Given the description of an element on the screen output the (x, y) to click on. 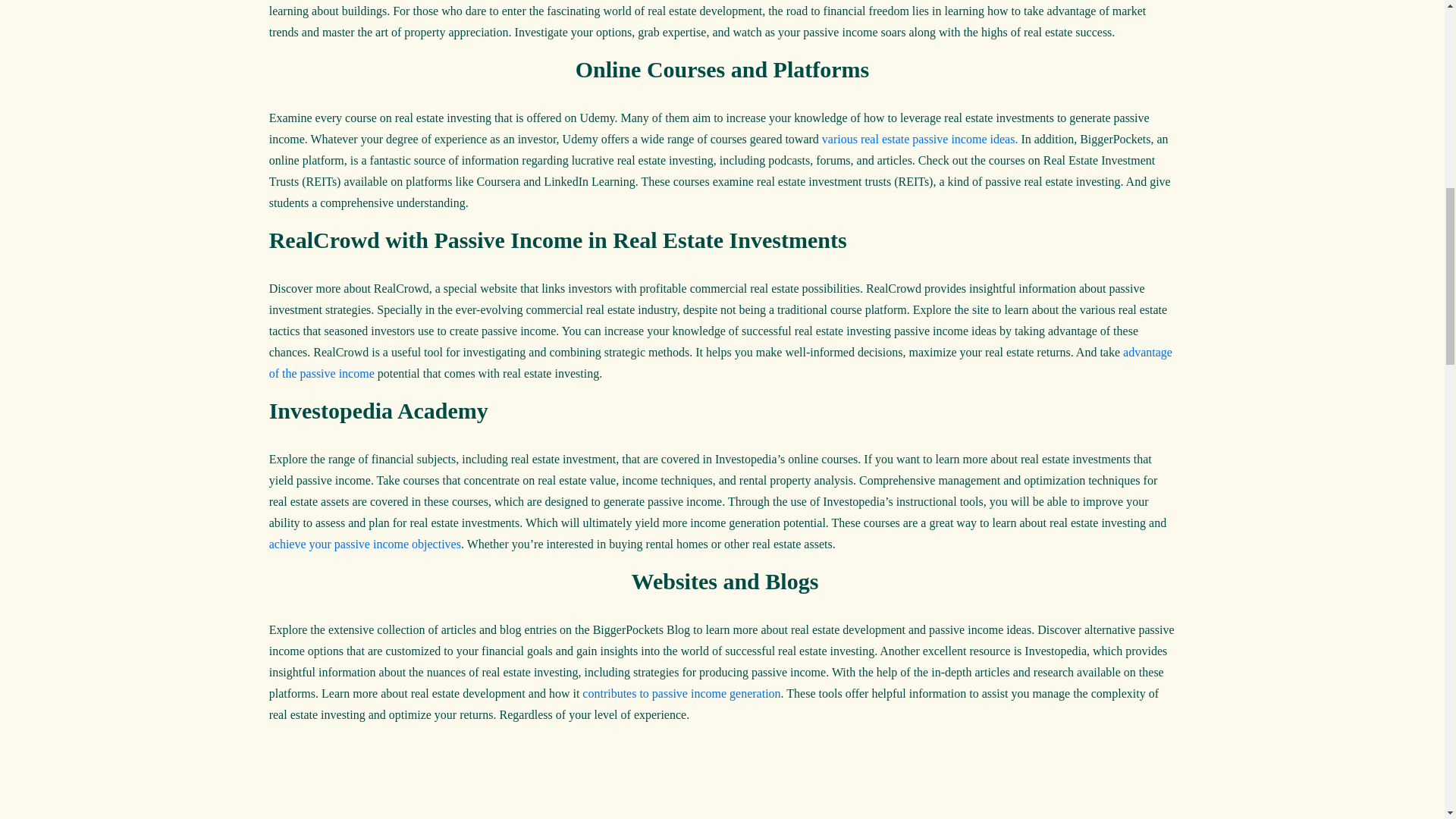
contributes to passive income generation (681, 693)
achieve your passive income objectives (365, 543)
advantage of the passive income (720, 362)
various real estate passive income ideas. (919, 138)
